Given the description of an element on the screen output the (x, y) to click on. 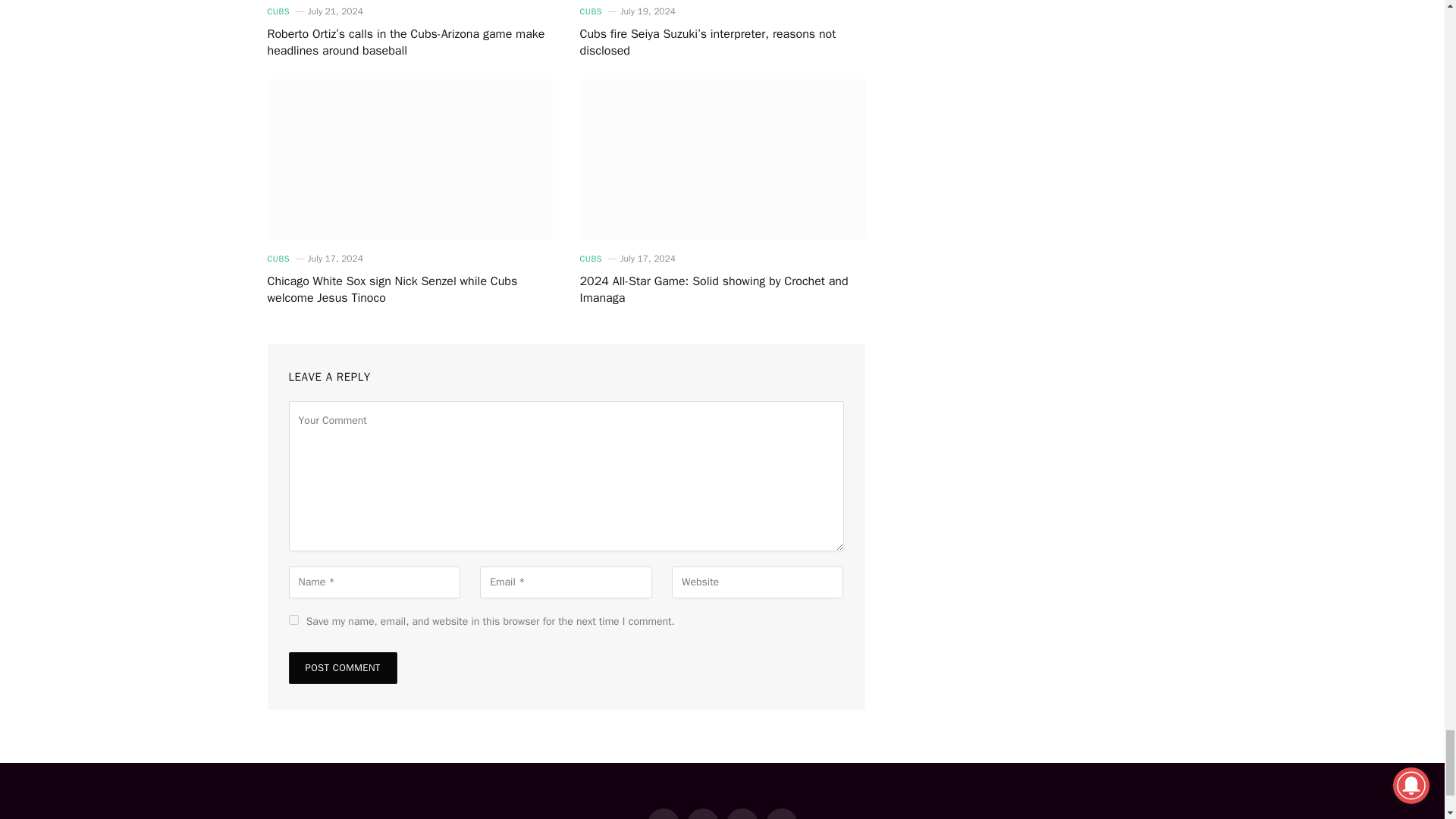
yes (293, 619)
Post Comment (342, 667)
